Given the description of an element on the screen output the (x, y) to click on. 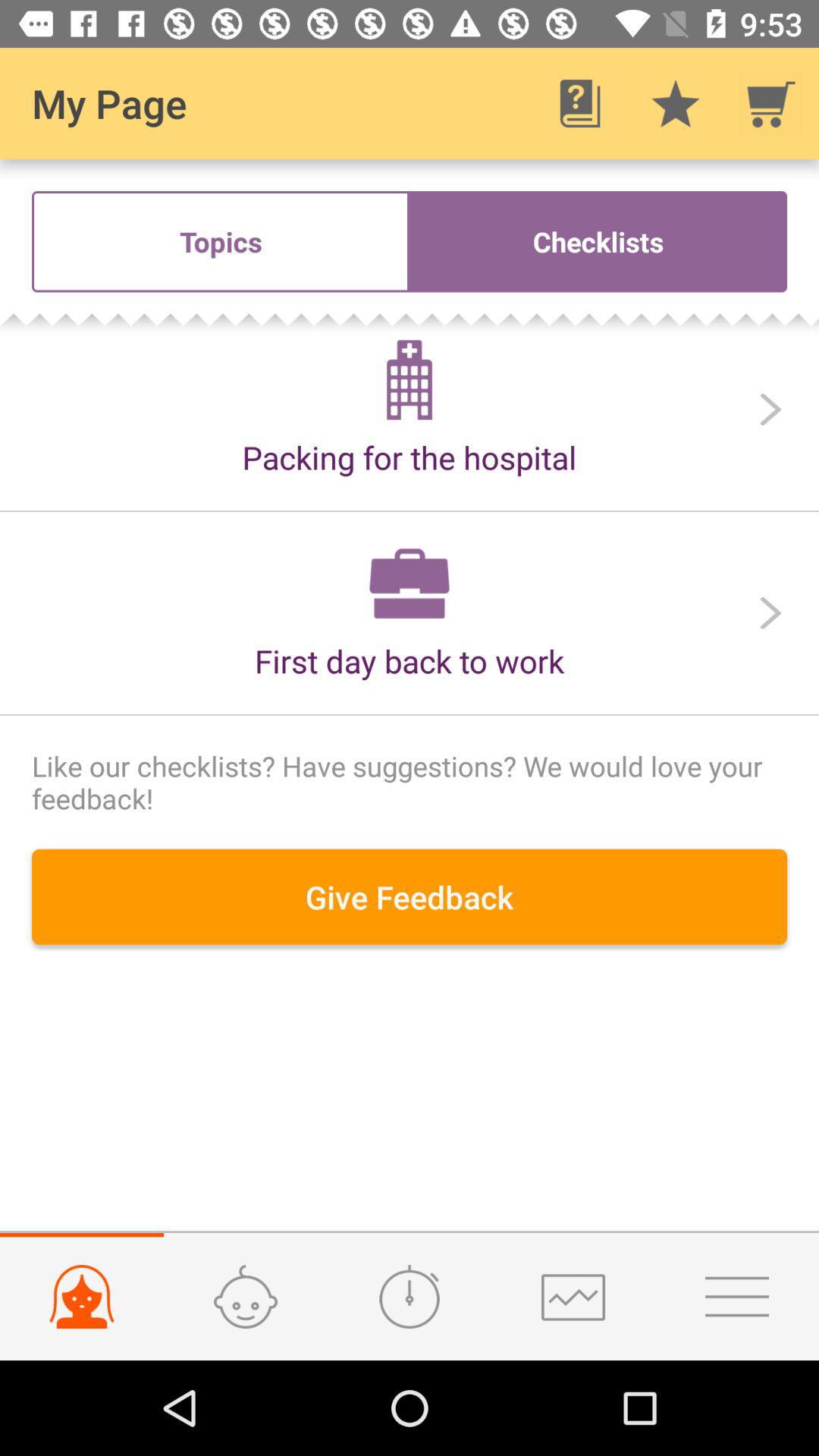
turn off icon to the left of the checklists (220, 241)
